Given the description of an element on the screen output the (x, y) to click on. 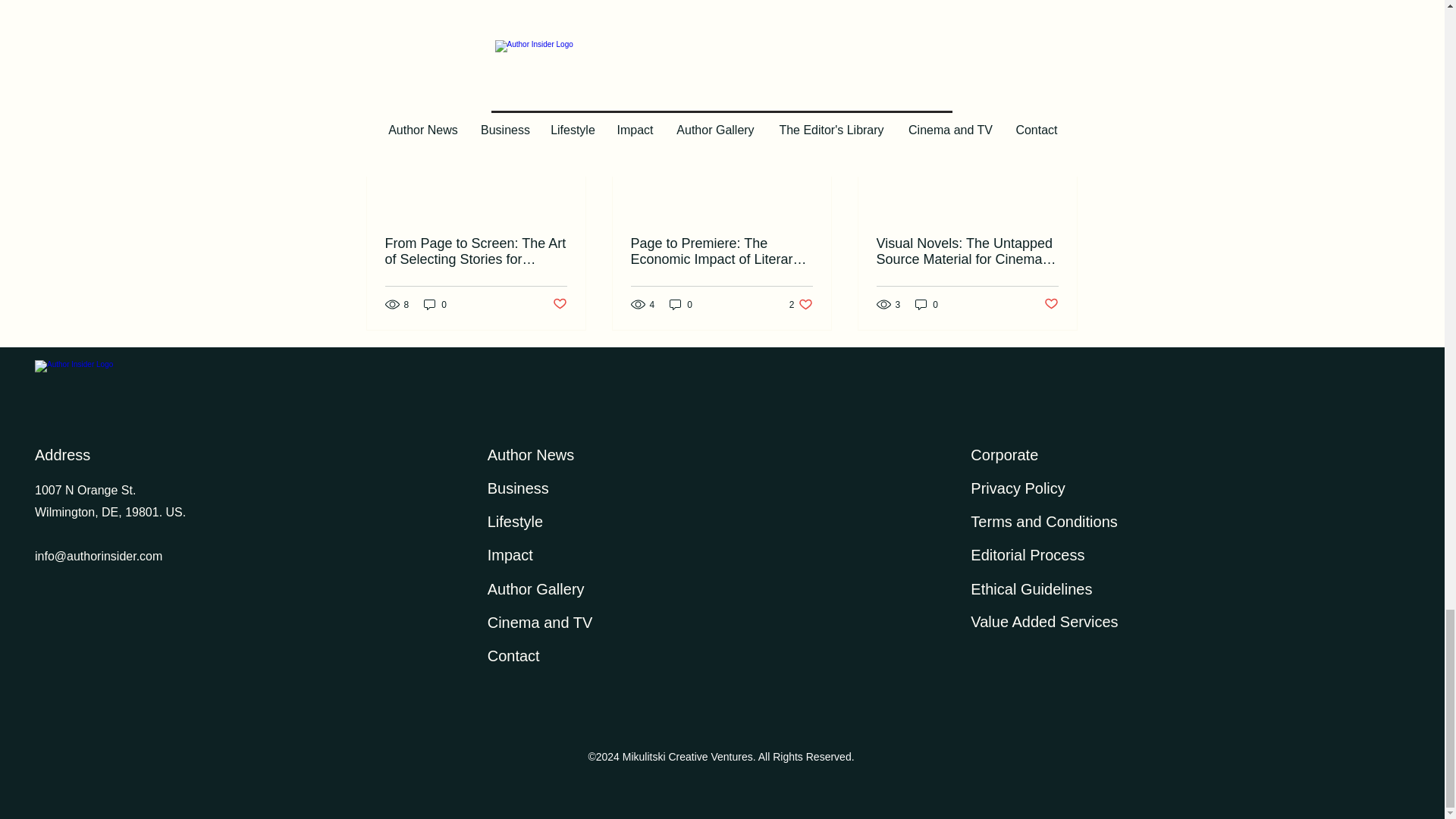
Author Insider Logo (261, 382)
0 (435, 304)
0 (926, 304)
0 (681, 304)
See All (800, 304)
Post not marked as liked (1061, 67)
